Given the description of an element on the screen output the (x, y) to click on. 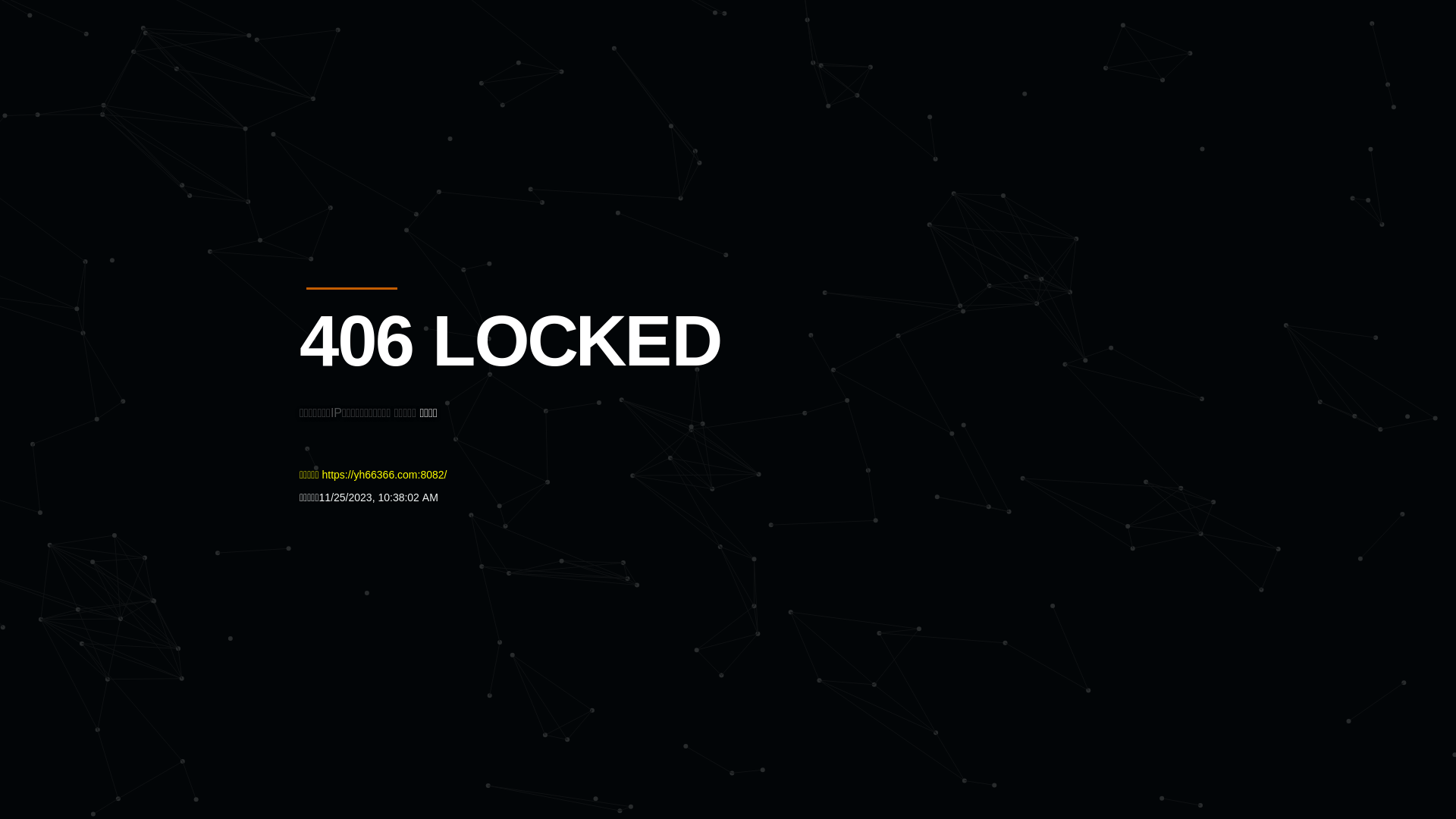
Quatro Element type: text (410, 86)
